Given the description of an element on the screen output the (x, y) to click on. 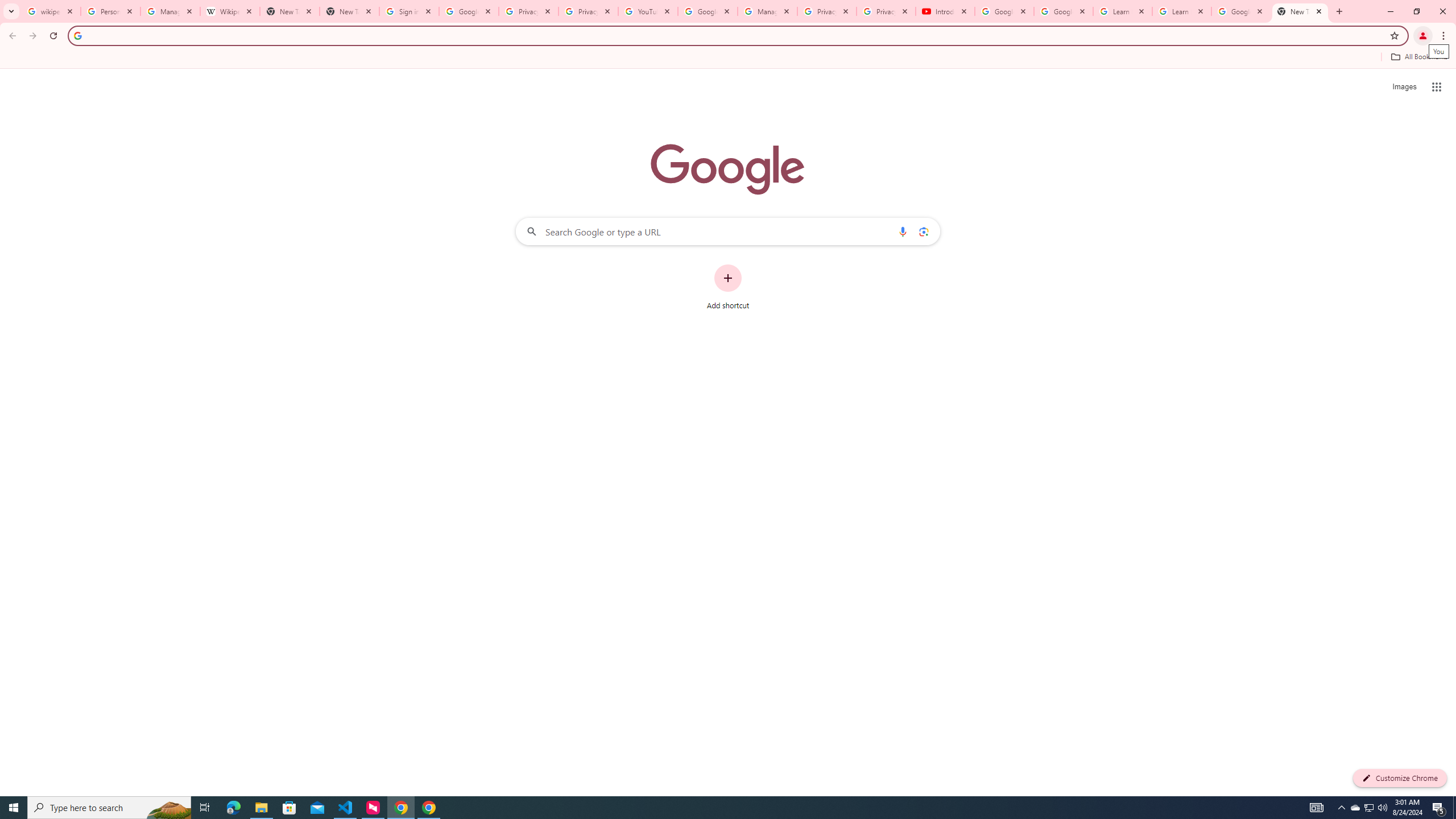
Customize Chrome (1399, 778)
Introduction | Google Privacy Policy - YouTube (944, 11)
Google Account Help (707, 11)
